Given the description of an element on the screen output the (x, y) to click on. 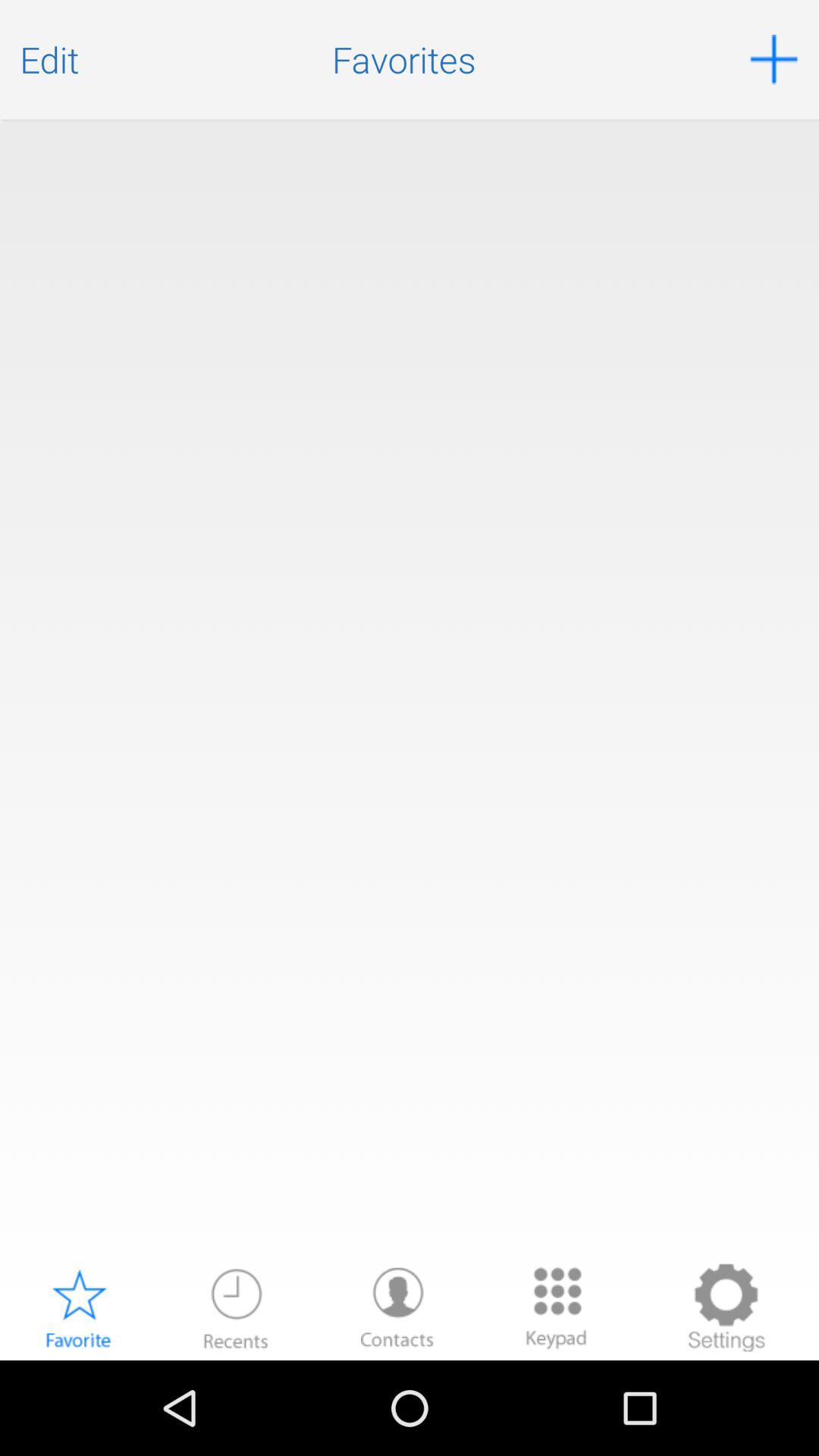
favorites list (409, 690)
